Given the description of an element on the screen output the (x, y) to click on. 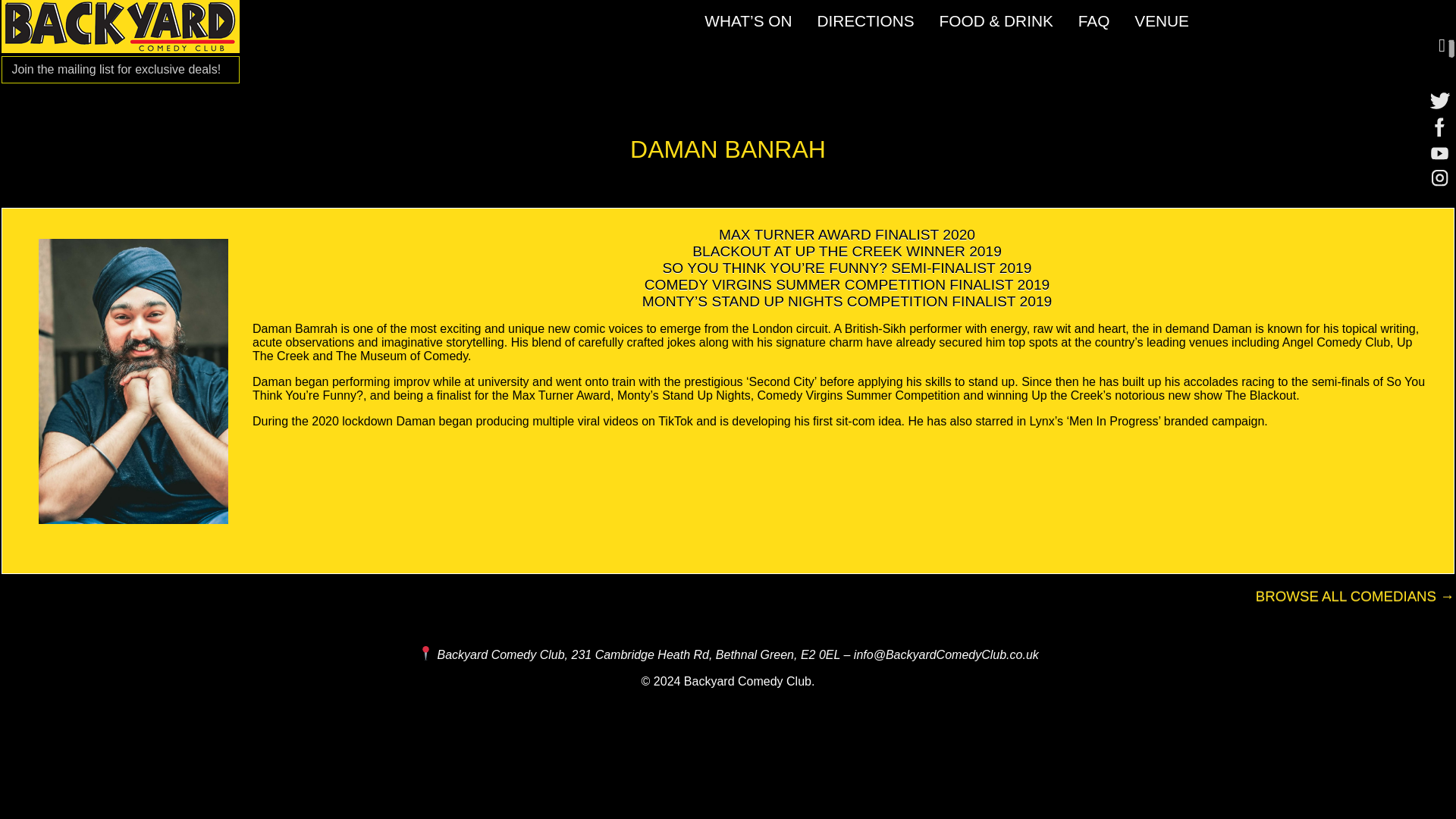
VENUE (1161, 20)
FAQ (1094, 20)
DIRECTIONS (865, 20)
Join the mailing list for exclusive deals! (116, 69)
